Given the description of an element on the screen output the (x, y) to click on. 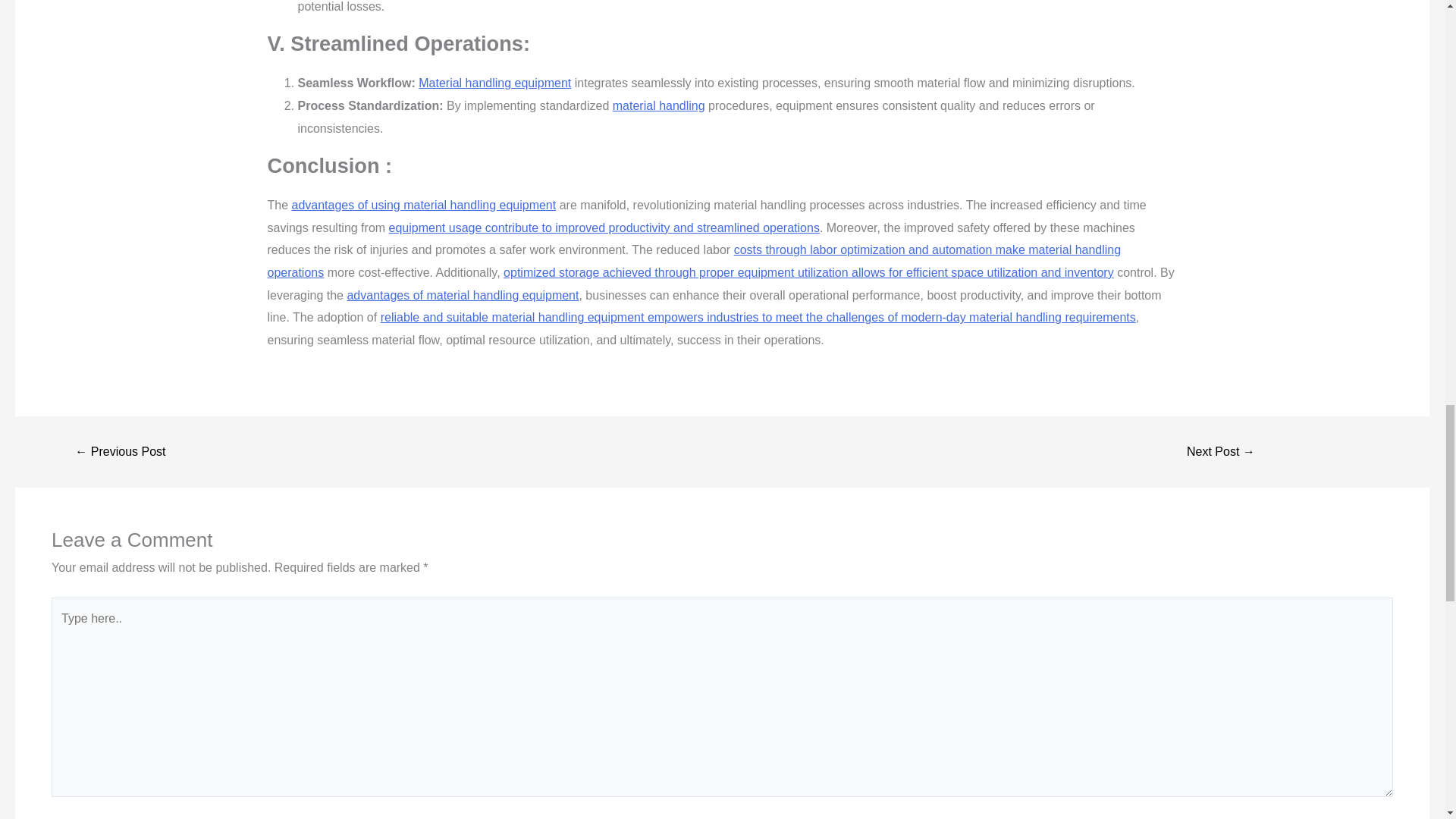
Material handling equipment (494, 82)
advantages of using material handling equipment (424, 205)
advantages of material handling equipment (462, 295)
Ensuring Safety When Operating Material Handling Equipment (1220, 451)
material handling (658, 105)
Categorizing Material Handling Equipment Based on Functions (119, 451)
